Given the description of an element on the screen output the (x, y) to click on. 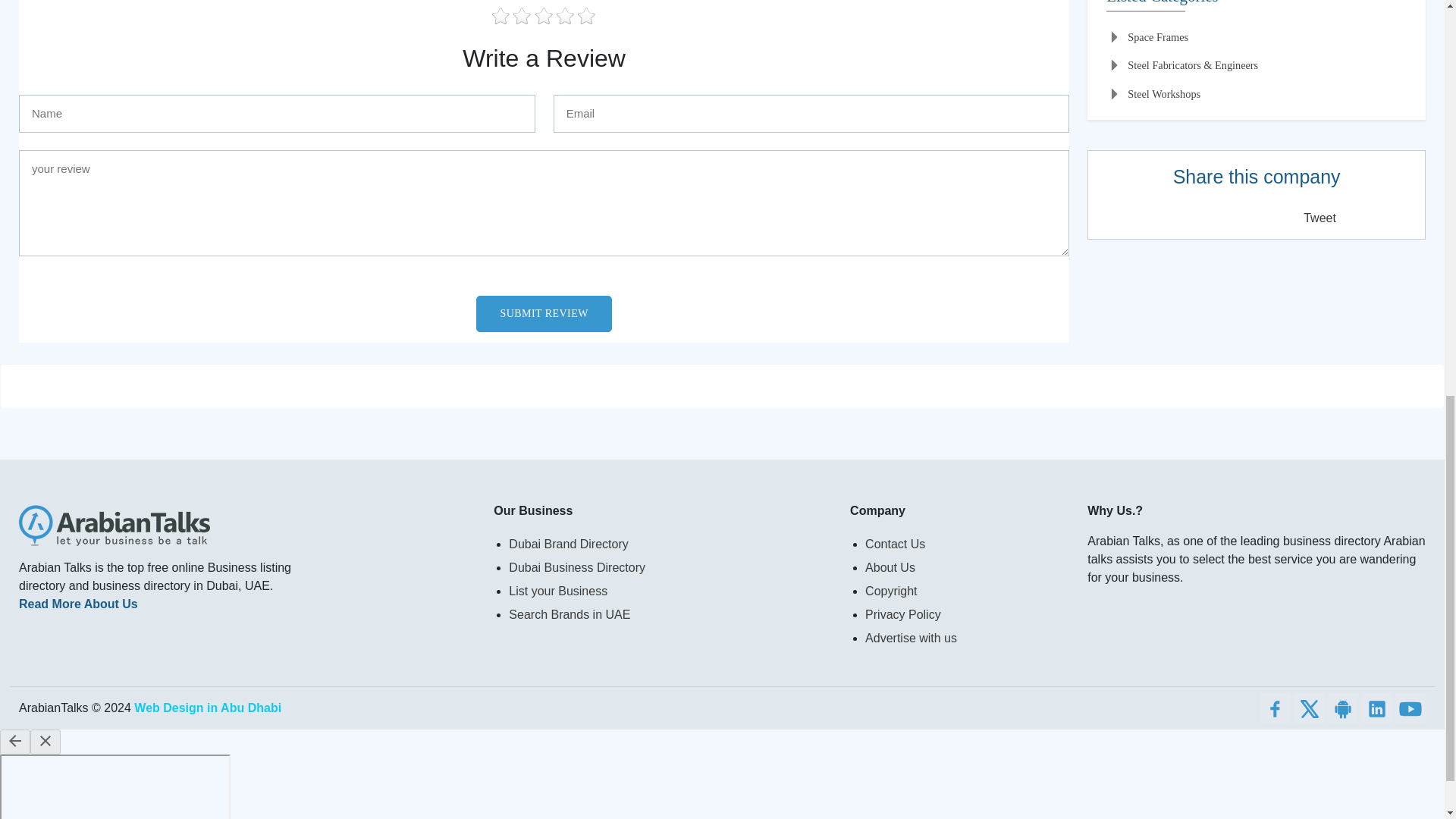
Advertise with us (966, 638)
Search Brands in UAE (669, 614)
Space Frames (1147, 37)
Submit Review (543, 313)
Web Design in Abu Dhabi (207, 707)
Contact Us (966, 544)
Tweet (1319, 217)
Rasana Engineering Industry Company LLC listed in category  (1256, 6)
list of companies in Space Frames (1147, 37)
Dubai Brand Directory (669, 544)
